Given the description of an element on the screen output the (x, y) to click on. 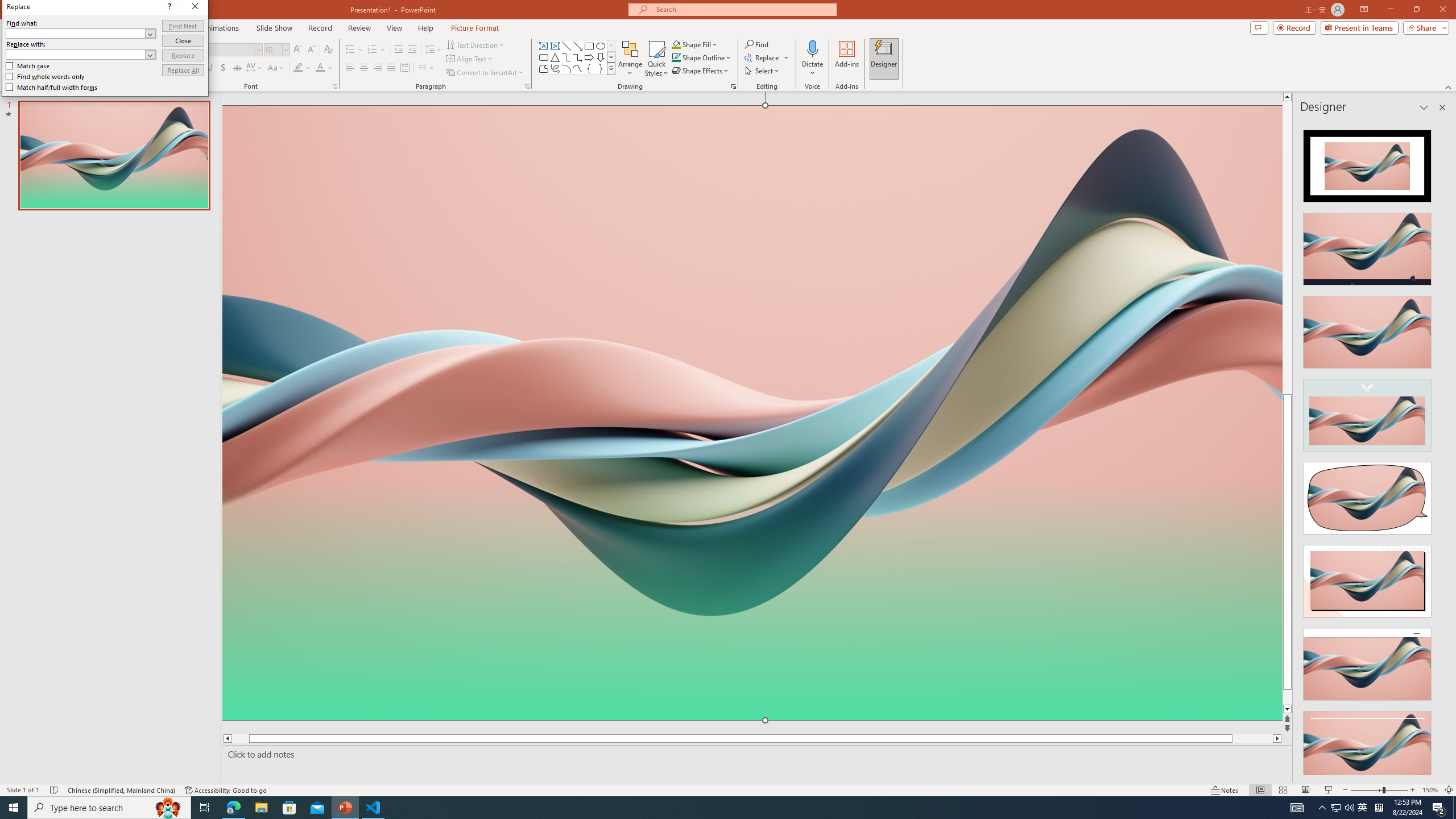
Replace All (352, 190)
Class: NetUIScrollBar (1441, 447)
Find what (374, 233)
